Given the description of an element on the screen output the (x, y) to click on. 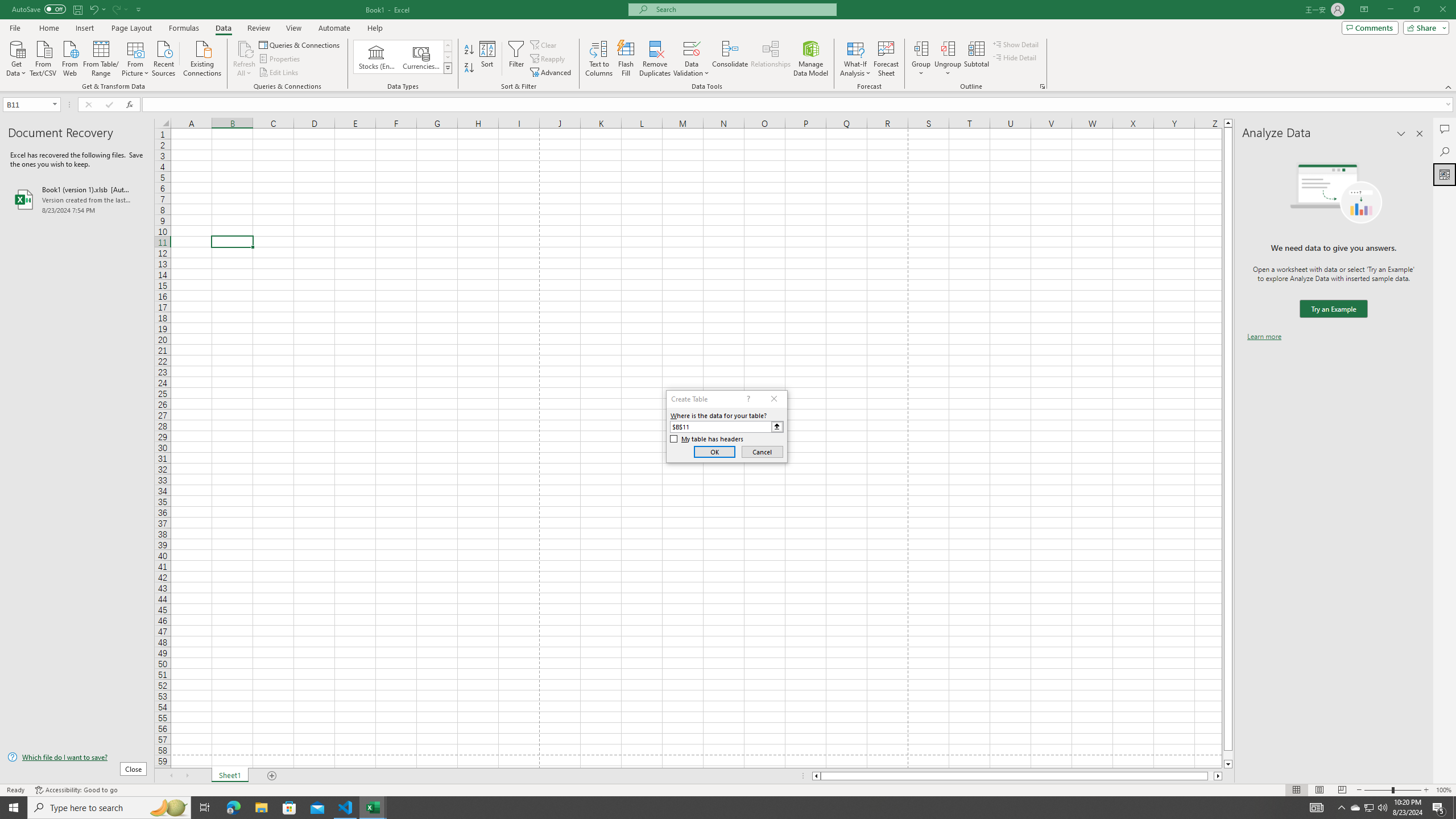
Flash Fill (625, 58)
What-If Analysis (855, 58)
Sort A to Z (469, 49)
Data Types (448, 67)
Existing Connections (202, 57)
Manage Data Model (810, 58)
